Given the description of an element on the screen output the (x, y) to click on. 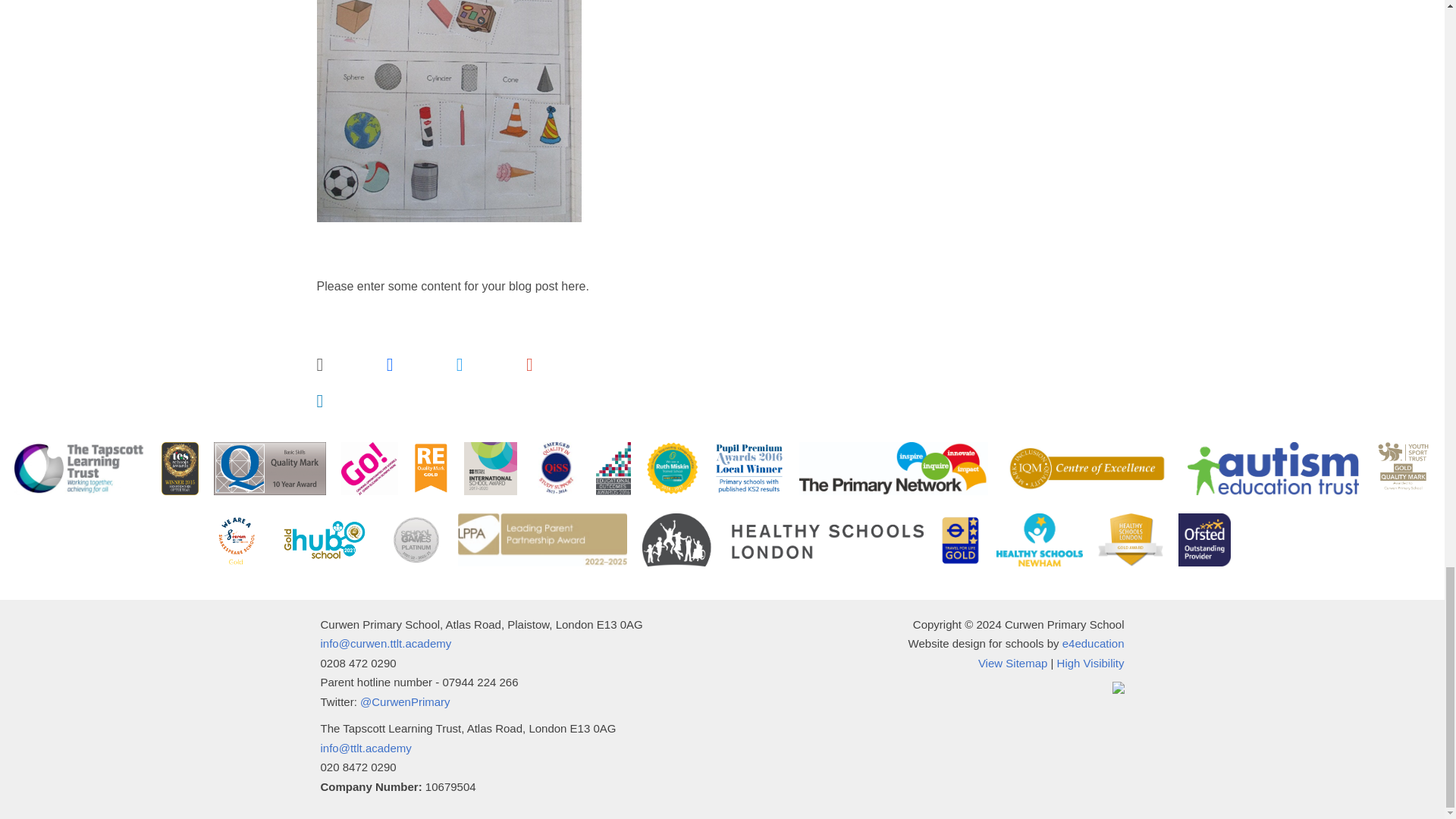
Follow us on Twitter (404, 701)
Email Curwen Primary (385, 643)
